Given the description of an element on the screen output the (x, y) to click on. 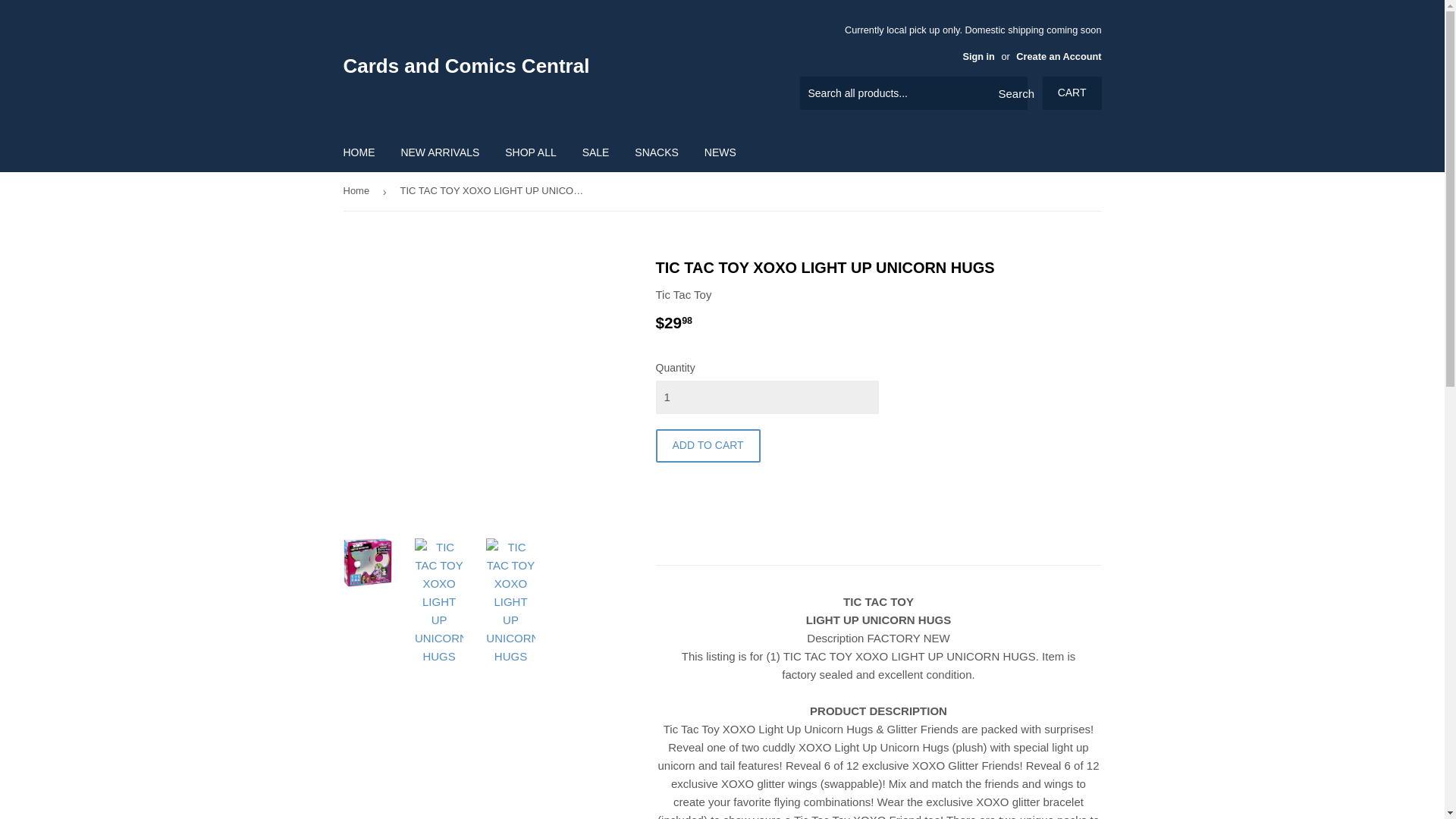
Create an Account (1058, 56)
Search (1009, 93)
Sign in (978, 56)
1 (766, 397)
Cards and Comics Central (532, 65)
CART (1072, 92)
